Given the description of an element on the screen output the (x, y) to click on. 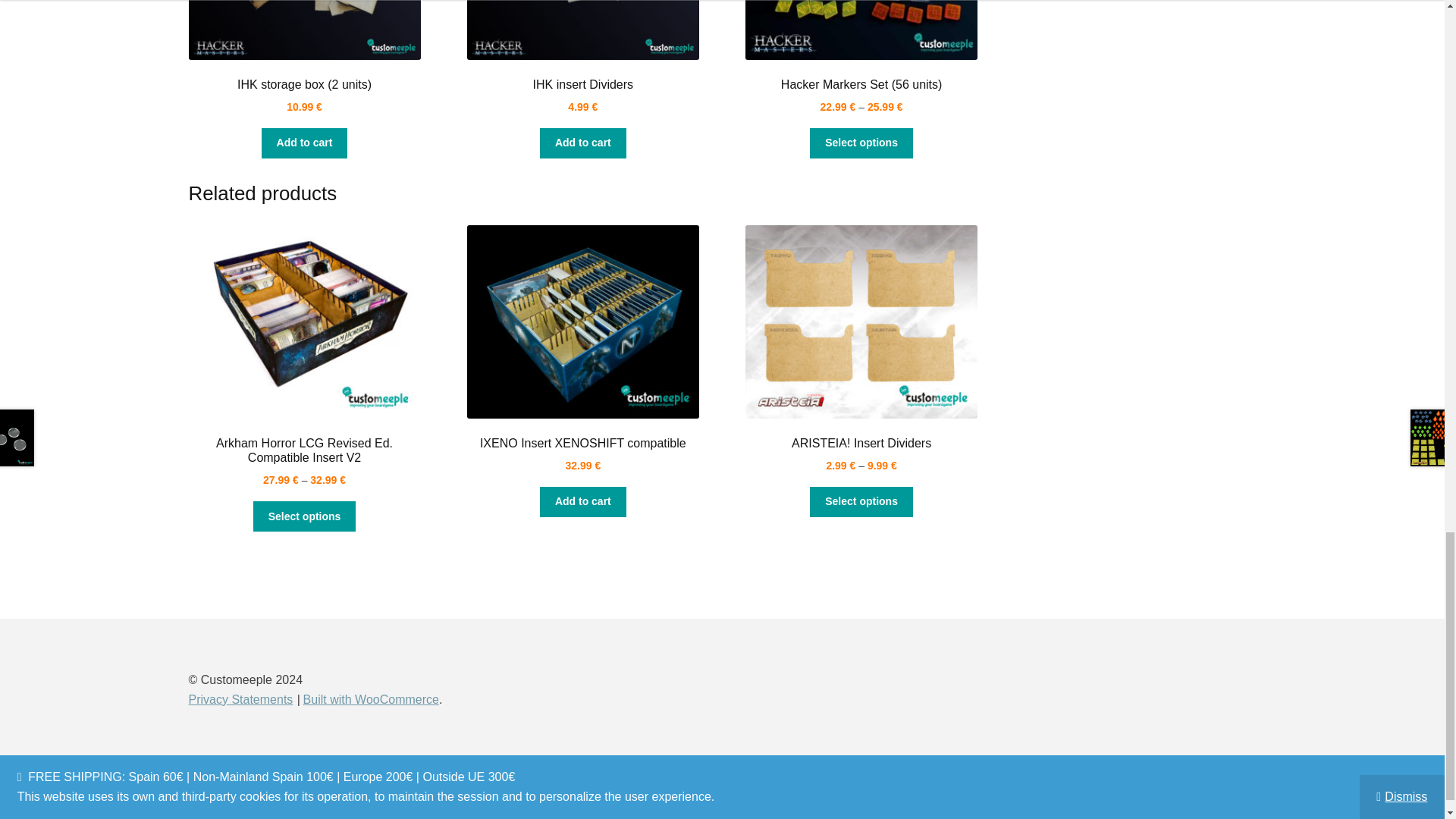
WooCommerce - The Best eCommerce Platform for WordPress (370, 698)
